Given the description of an element on the screen output the (x, y) to click on. 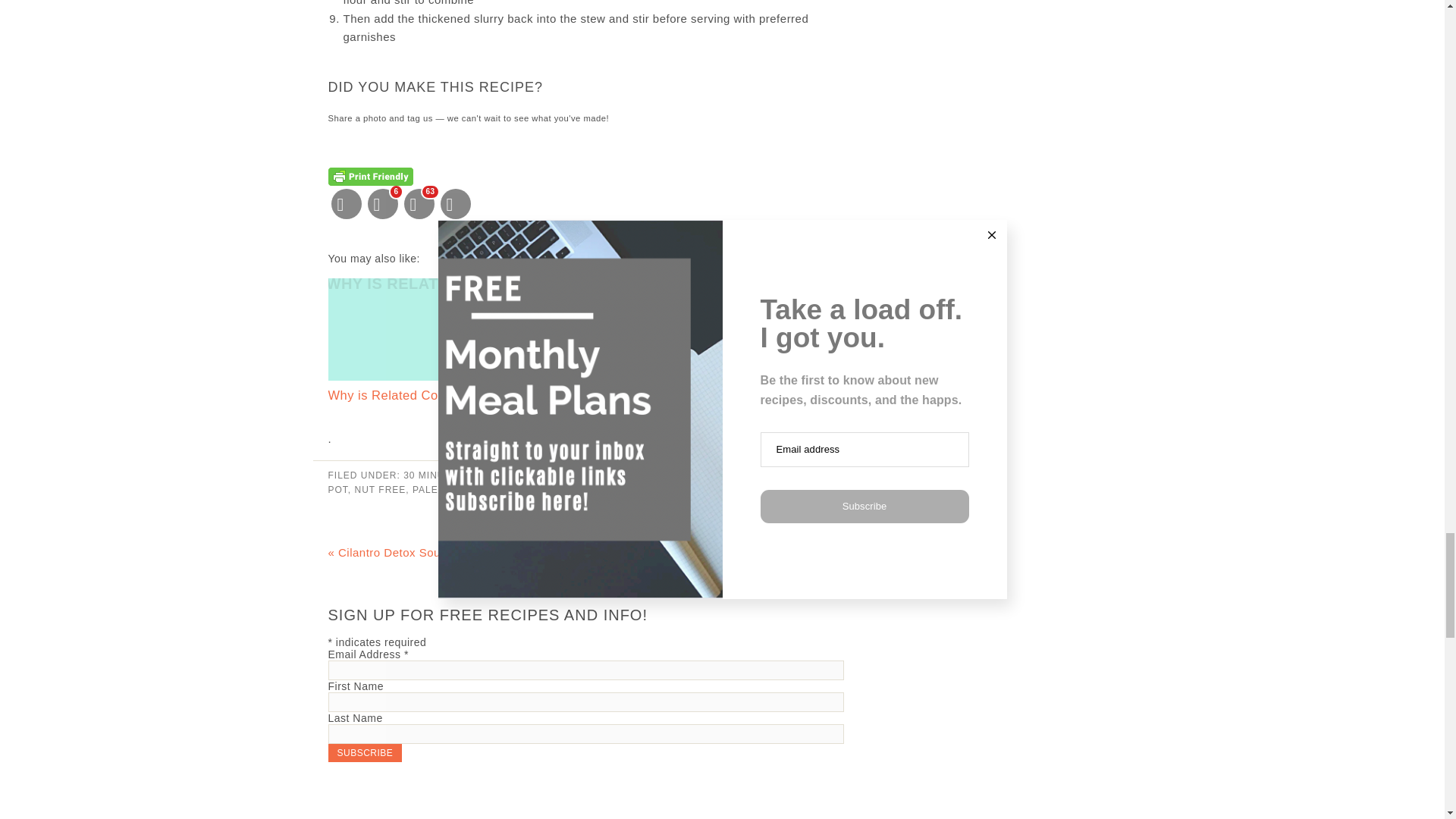
Pinterest (418, 203)
Why is Related Content not showing up? (585, 341)
Subscribe (364, 752)
More Options (454, 203)
Facebook (382, 203)
shareaholic (819, 263)
Website Tools by Shareaholic (819, 263)
